Given the description of an element on the screen output the (x, y) to click on. 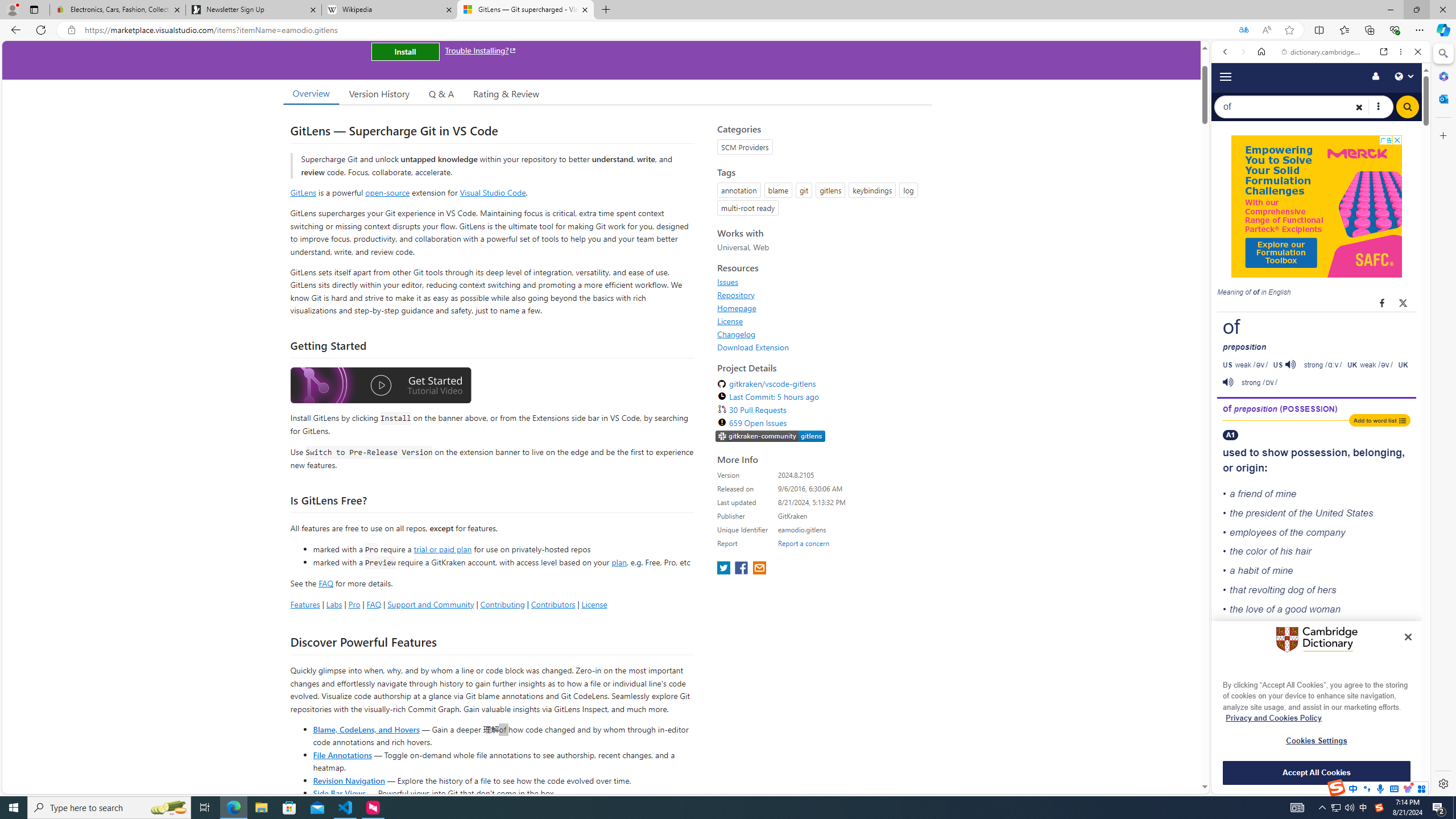
hair (1302, 551)
Forward (1242, 51)
seats (1284, 688)
Report a concern (803, 542)
Translated (1243, 29)
Download Extension (820, 346)
color (1255, 551)
